Given the description of an element on the screen output the (x, y) to click on. 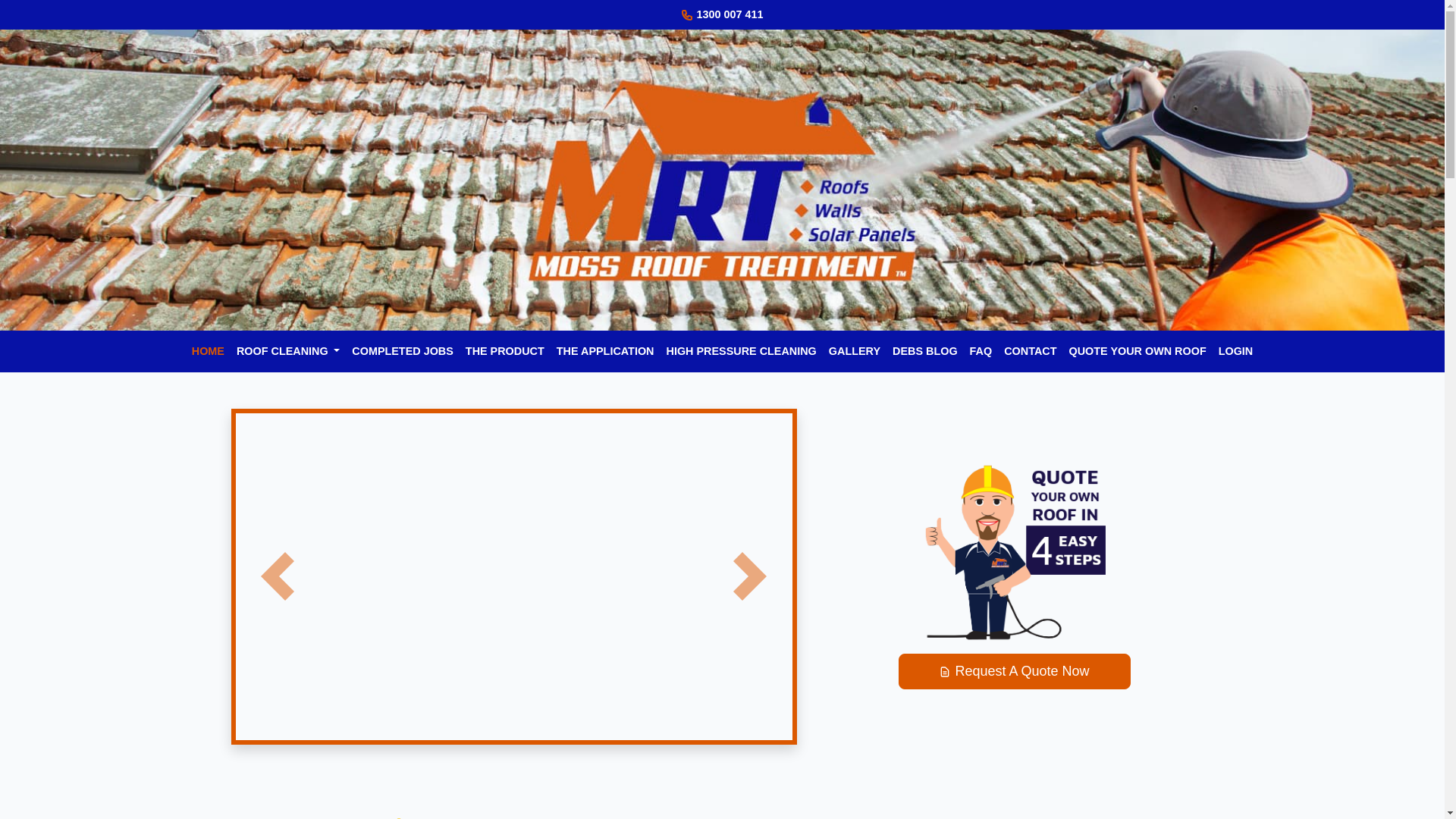
CONTACT Element type: text (1029, 351)
GALLERY Element type: text (854, 351)
ROOF CLEANING Element type: text (287, 351)
THE APPLICATION Element type: text (605, 351)
THE PRODUCT Element type: text (504, 351)
Request A Quote Now Element type: text (1013, 671)
COMPLETED JOBS Element type: text (402, 351)
HOME Element type: text (207, 351)
QUOTE YOUR OWN ROOF Element type: text (1136, 351)
LOGIN Element type: text (1235, 351)
HIGH PRESSURE CLEANING Element type: text (740, 351)
Previous Element type: text (276, 576)
Next Element type: text (749, 576)
1300 007 411 Element type: text (729, 14)
DEBS BLOG Element type: text (924, 351)
FAQ Element type: text (980, 351)
